Given the description of an element on the screen output the (x, y) to click on. 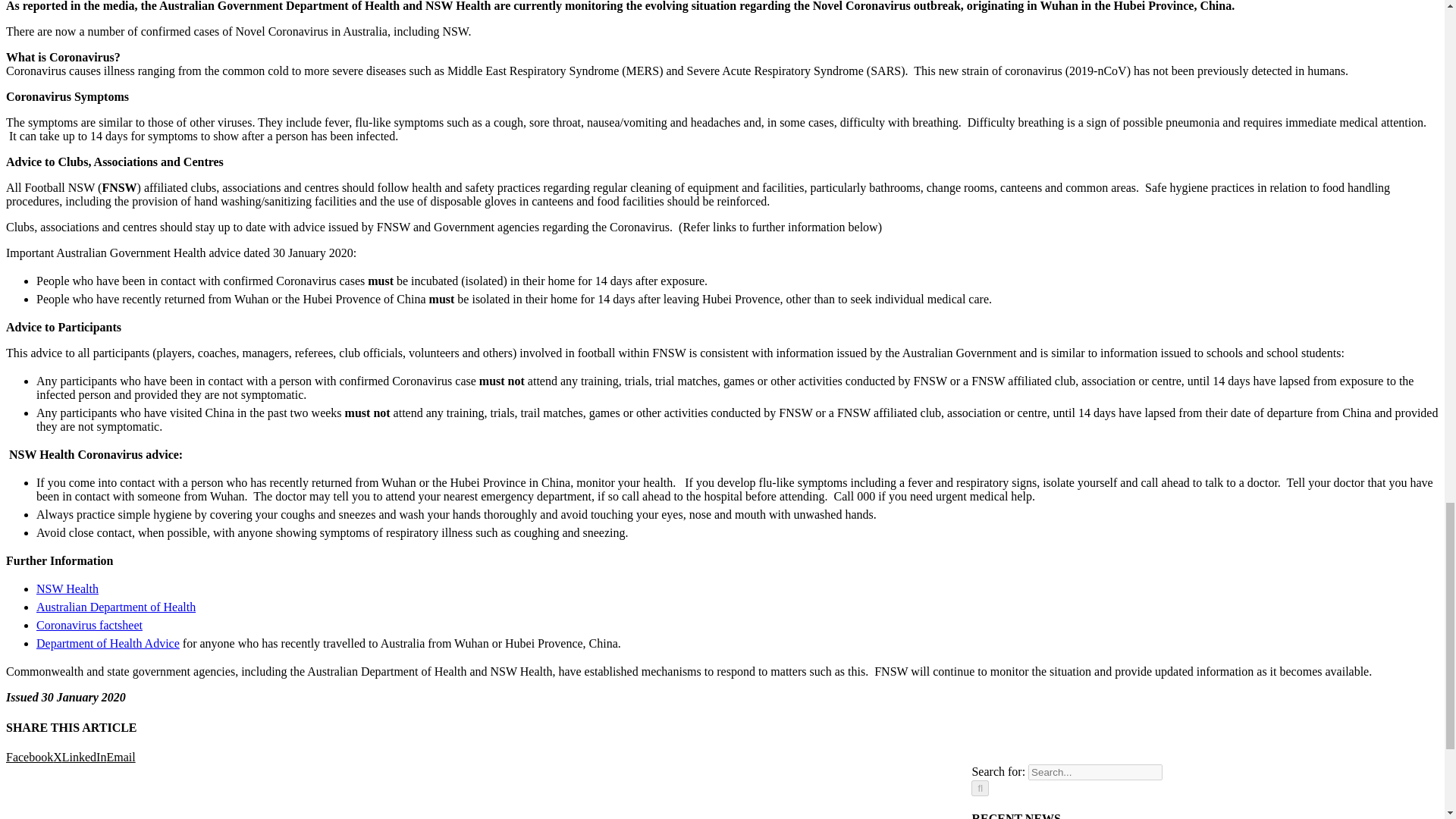
LinkedIn (84, 757)
Facebook (28, 757)
Email (120, 757)
